Given the description of an element on the screen output the (x, y) to click on. 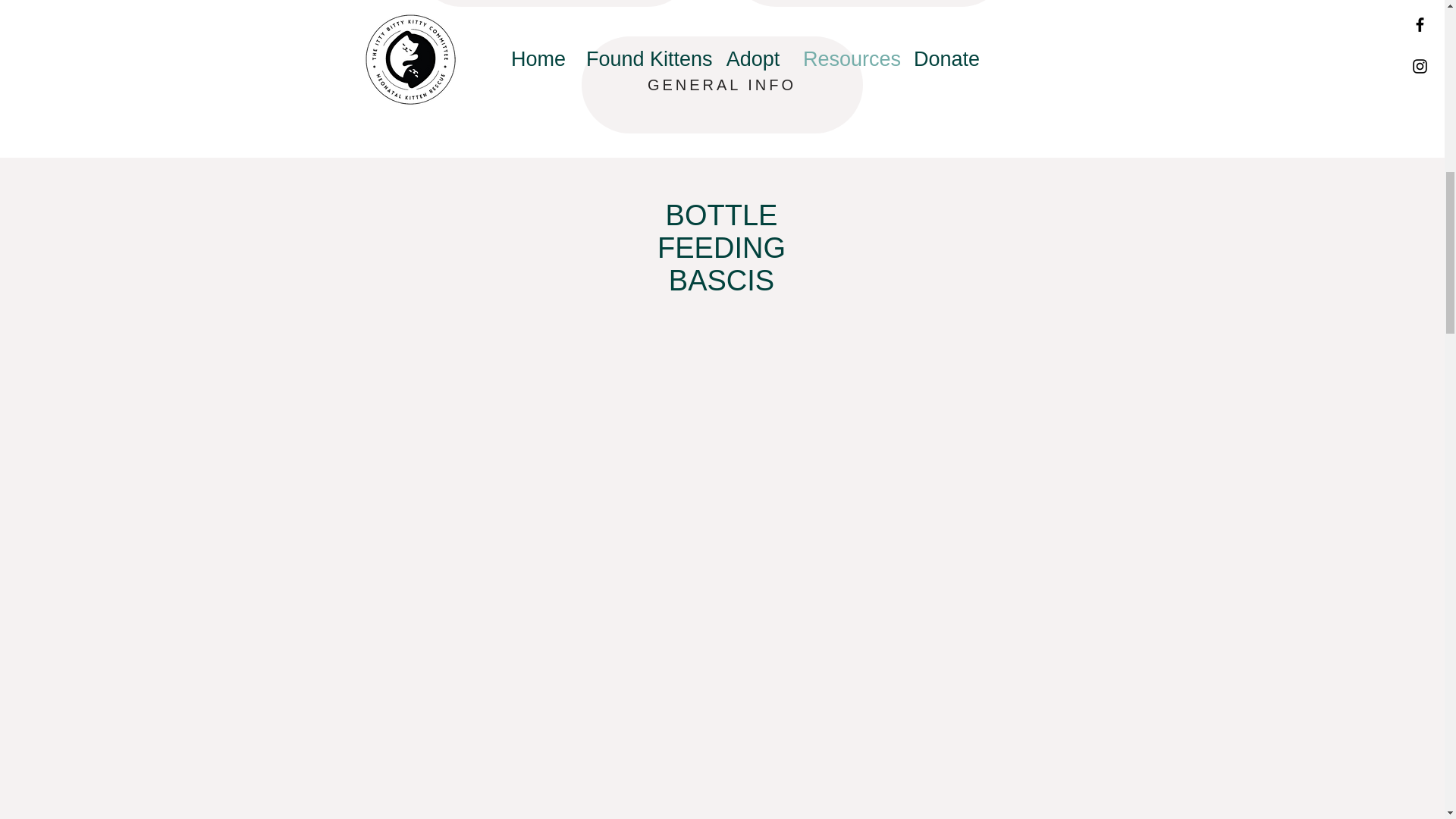
STIMULATING KITTENS (868, 3)
BOTTLE FEEDING BASICS (554, 3)
GENERAL INFO (720, 84)
